Given the description of an element on the screen output the (x, y) to click on. 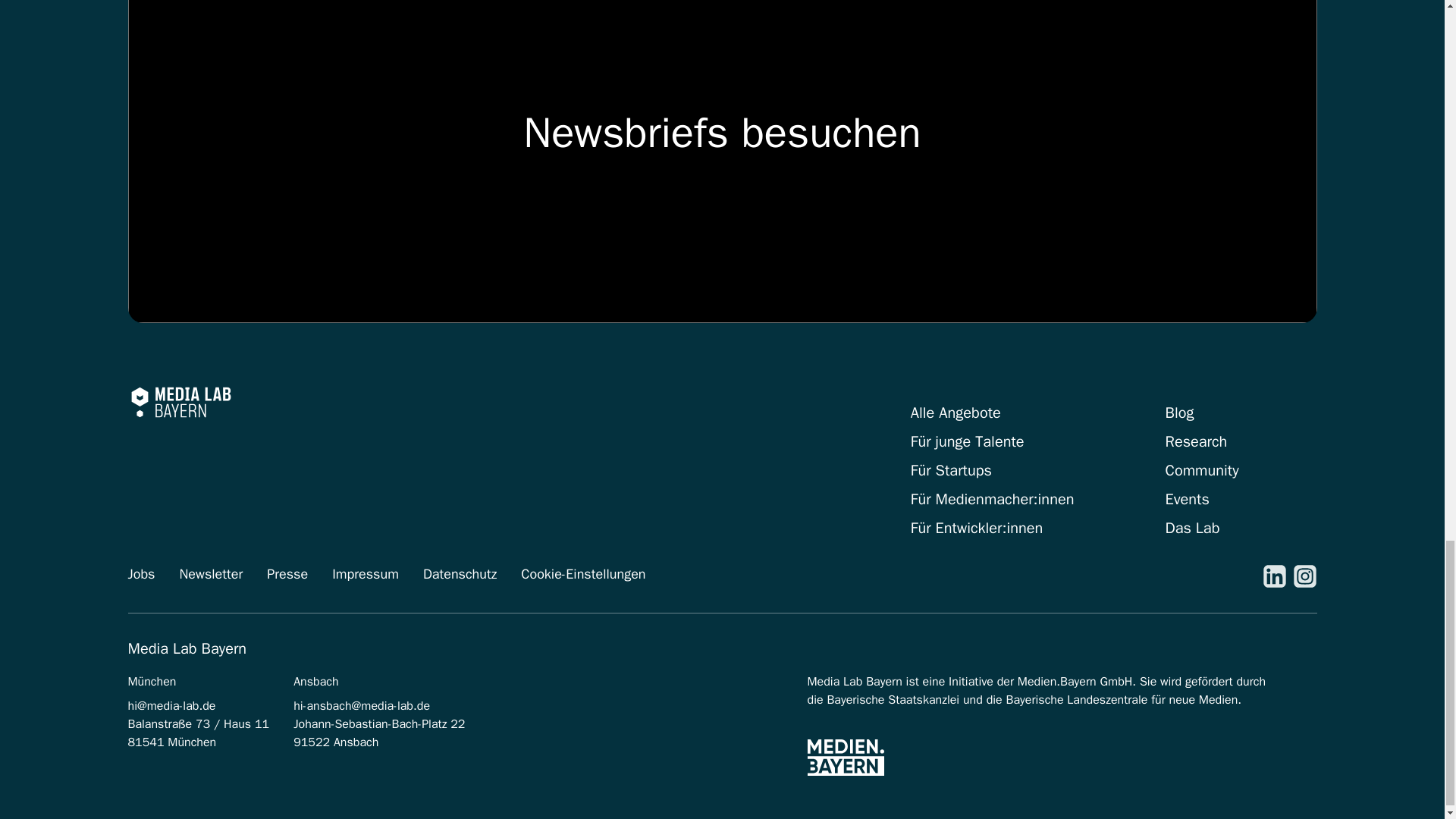
Alle Angebote (956, 412)
Zur Startseite gehen (180, 402)
